Given the description of an element on the screen output the (x, y) to click on. 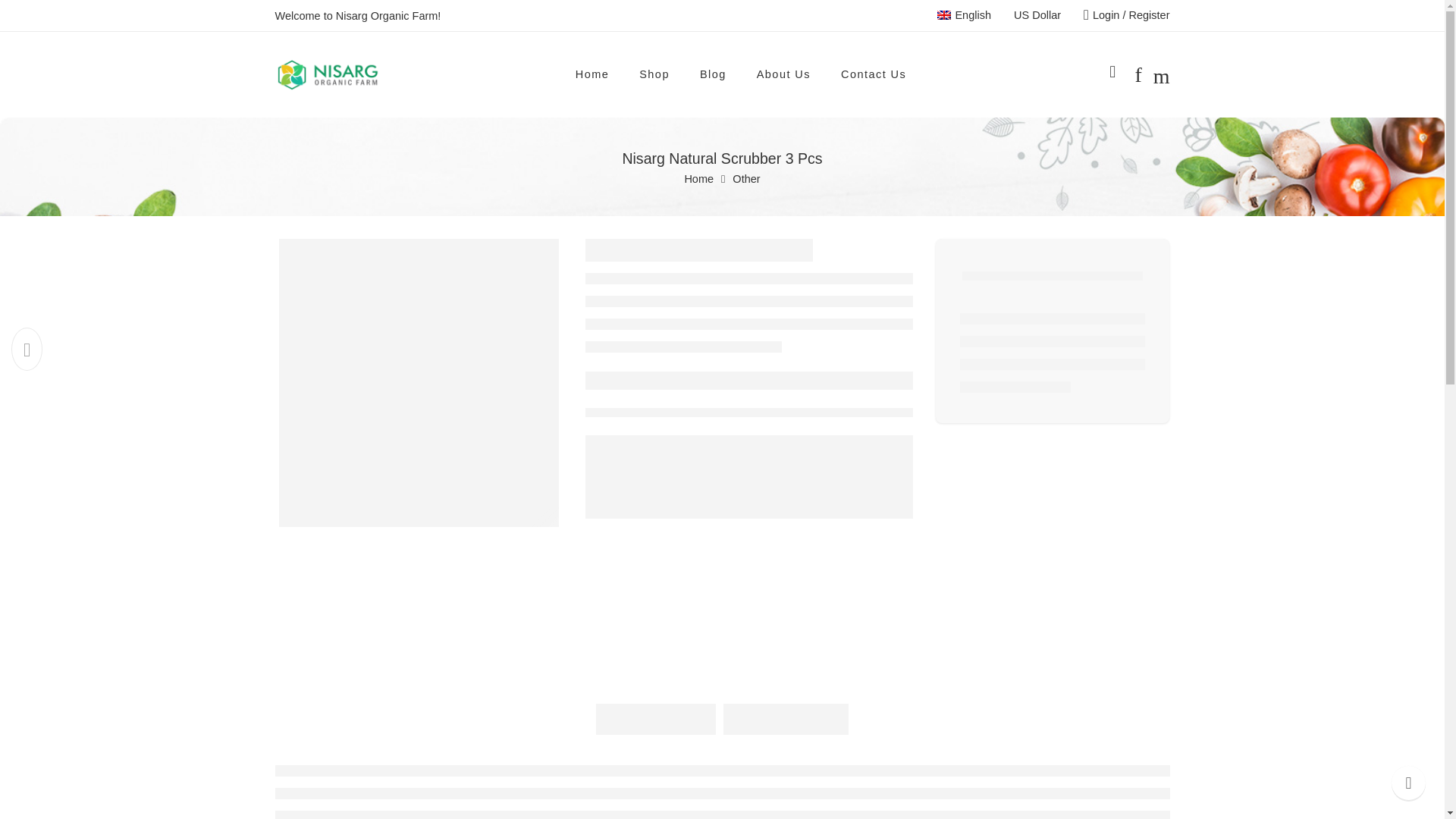
English (964, 15)
2448 (1079, 710)
Home (698, 179)
About Us (783, 74)
US Dollar (1037, 15)
Other (746, 179)
Contact Us (873, 74)
English (964, 15)
Requires package of WPML (1037, 15)
